Given the description of an element on the screen output the (x, y) to click on. 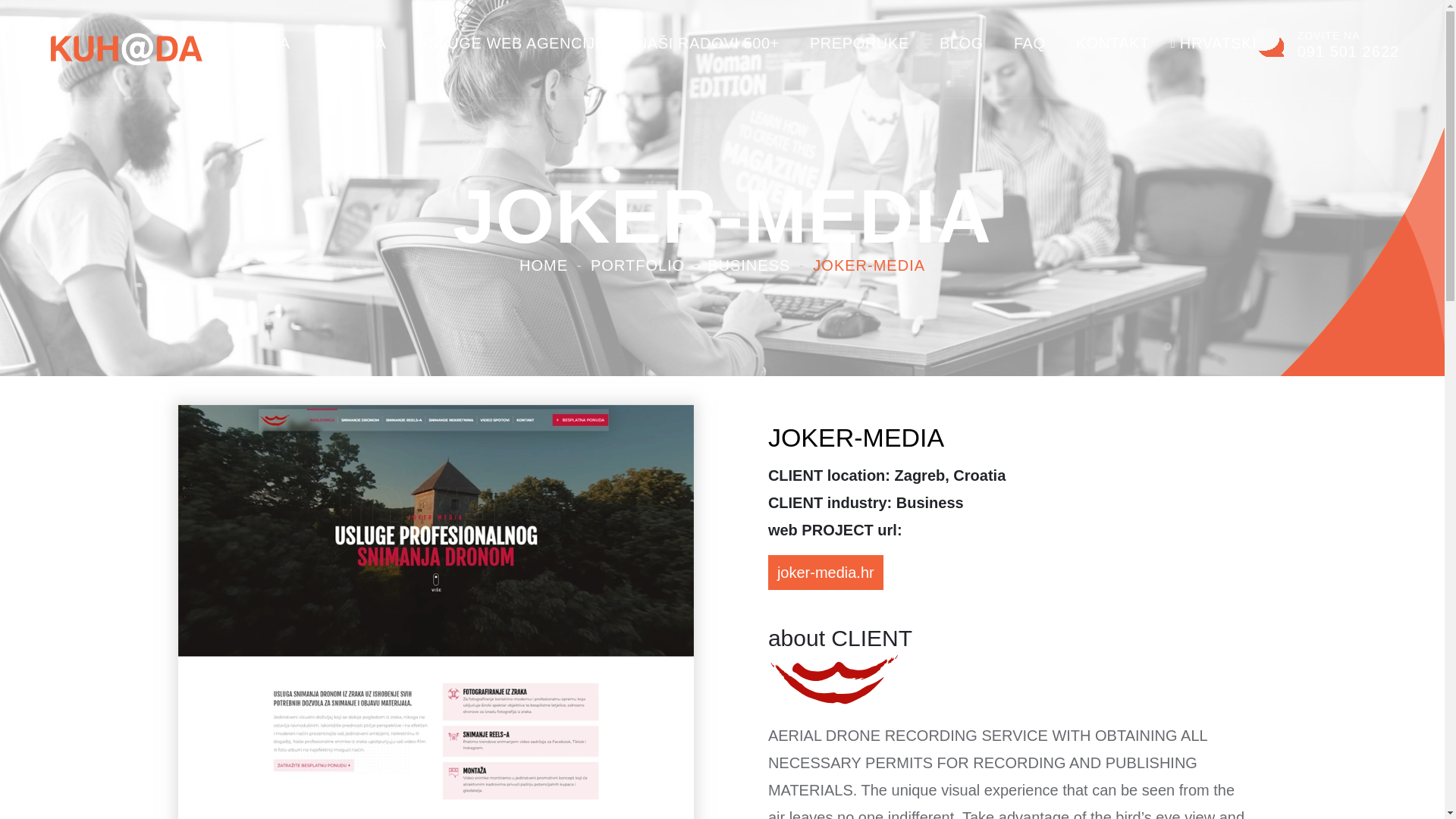
joker2 (835, 678)
KUHADA (353, 42)
USLUGE WEB AGENCIJE (1325, 42)
PREPORUKE (510, 42)
BLOG (858, 42)
NASLOVNICA (961, 42)
HRVATSKI (238, 42)
KONTAKT (1218, 42)
